Given the description of an element on the screen output the (x, y) to click on. 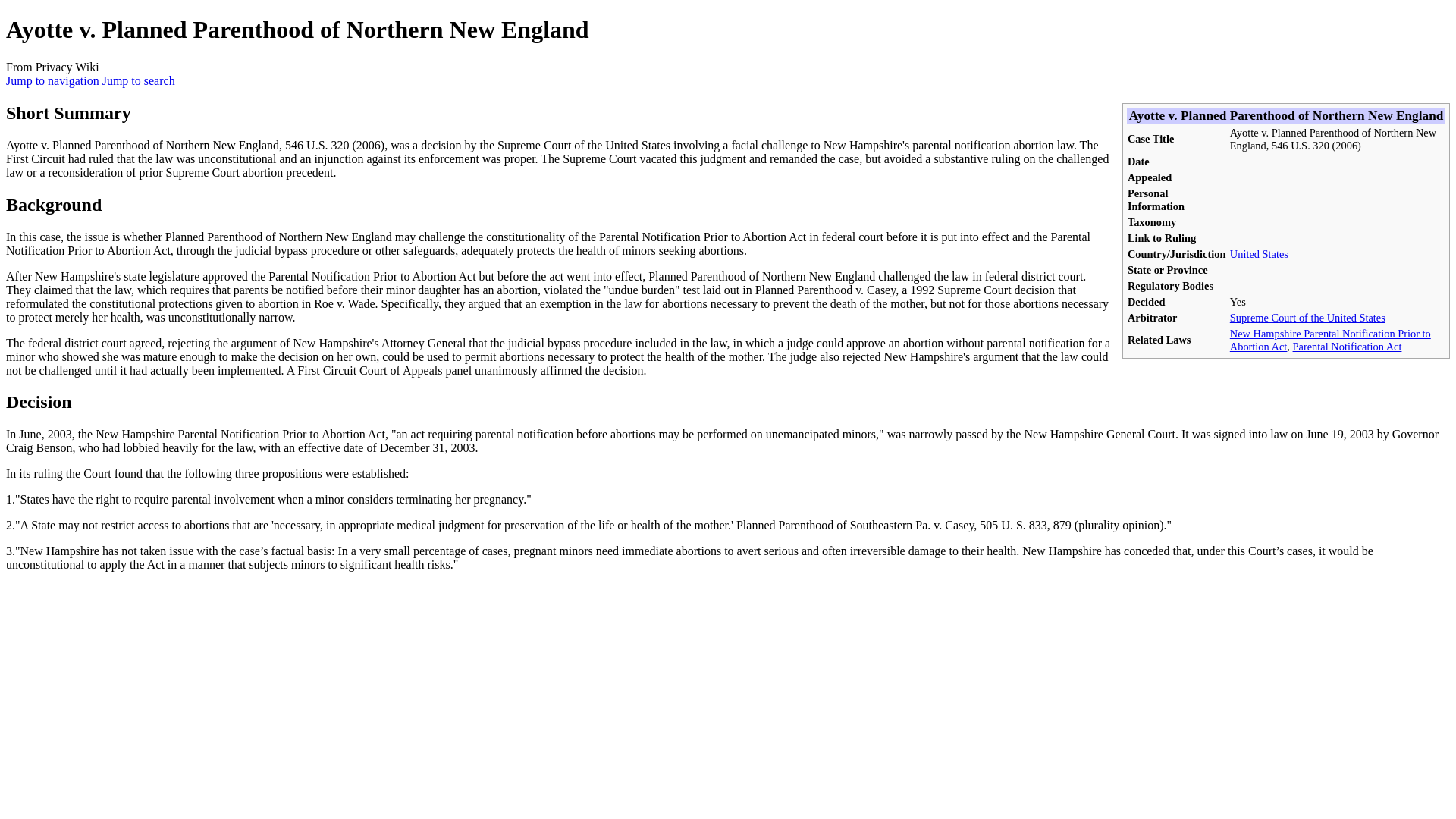
Jump to search (137, 80)
Parental Notification Act (1347, 346)
Supreme Court of the United States (1308, 317)
New Hampshire Parental Notification Prior to Abortion Act (1330, 339)
United States (1259, 254)
United States (1259, 254)
Jump to navigation (52, 80)
